Given the description of an element on the screen output the (x, y) to click on. 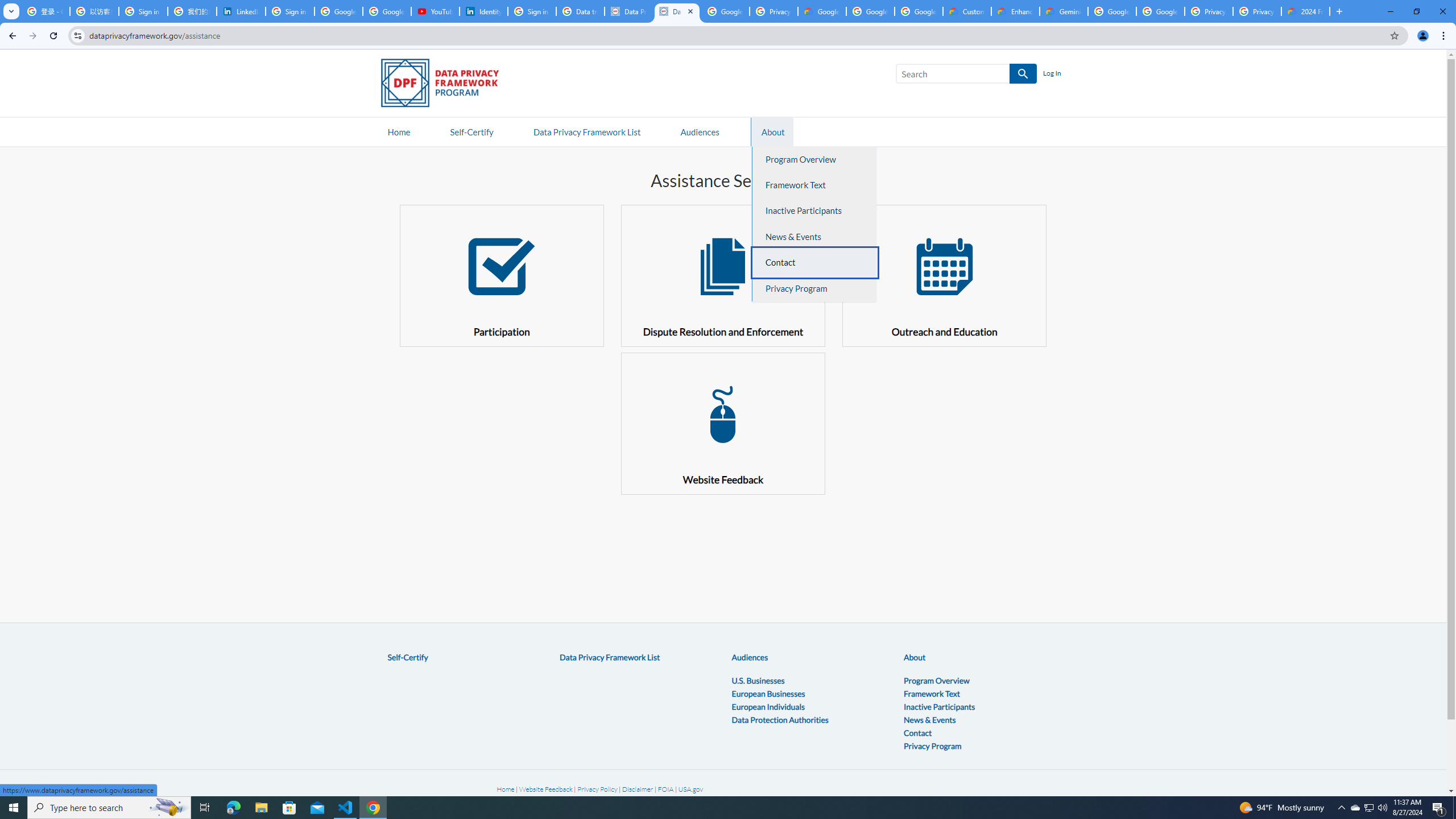
European Individuals (767, 706)
 Participation (501, 275)
Search SEARCH (965, 75)
To get missing image descriptions, open the context menu. (722, 414)
LinkedIn Privacy Policy (240, 11)
Sign in - Google Accounts (290, 11)
Google Cloud Platform (1160, 11)
Self-Certify (407, 657)
 Website Feedback (722, 423)
